Given the description of an element on the screen output the (x, y) to click on. 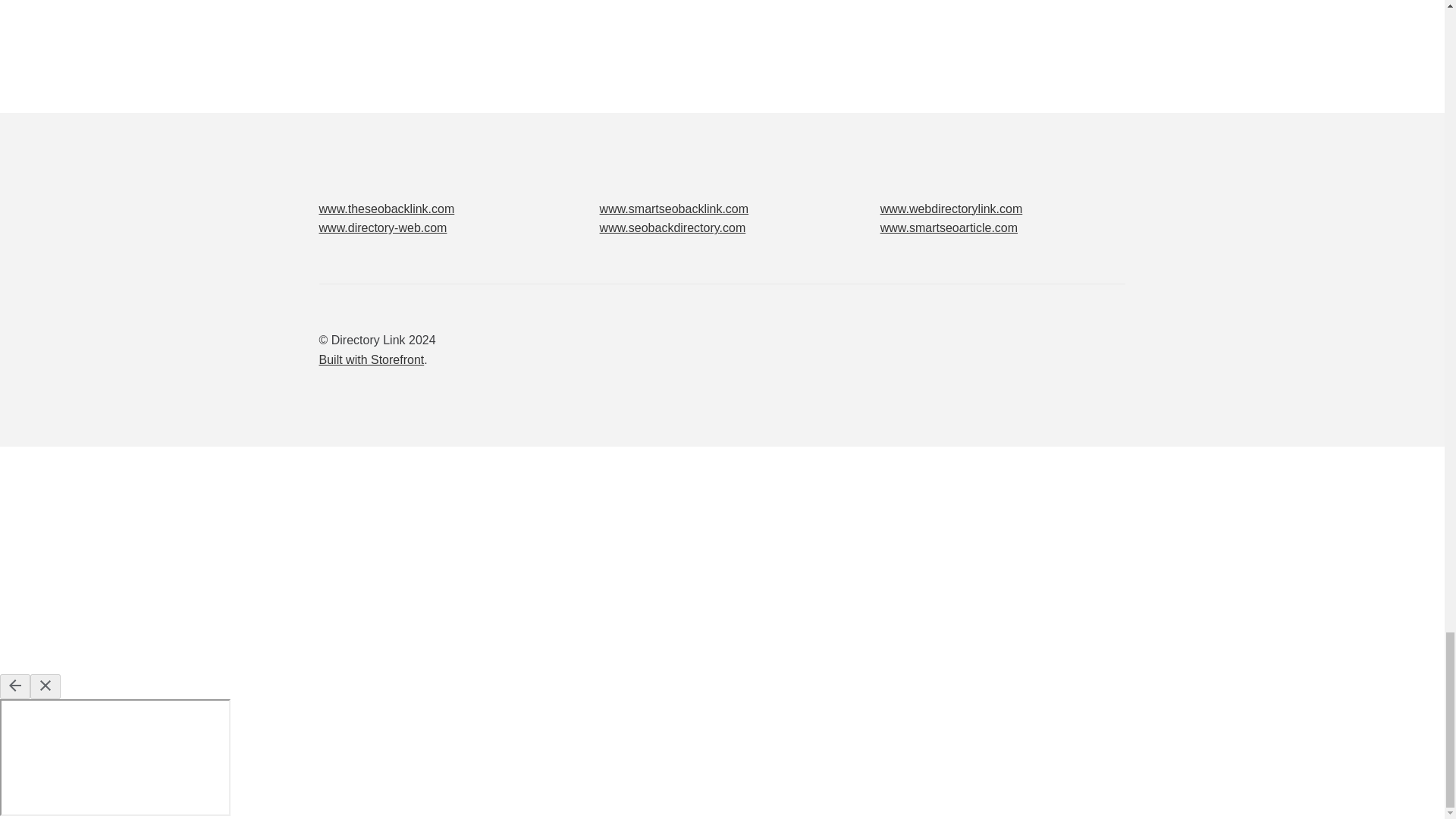
www.smartseobacklink.com (674, 208)
www.theseobacklink.com (386, 208)
www.directory-web.com (382, 227)
